Given the description of an element on the screen output the (x, y) to click on. 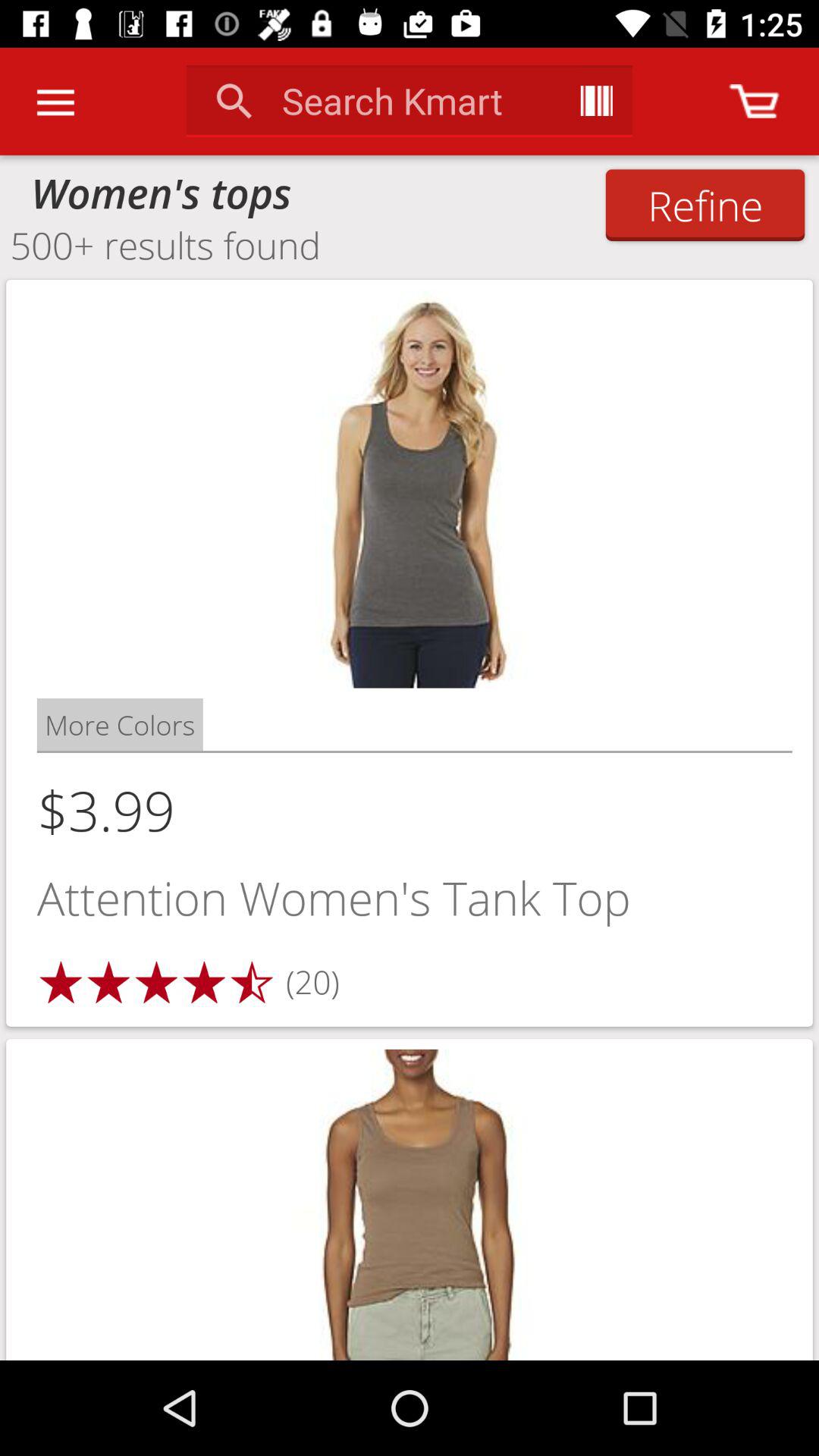
turn off item next to  women's tops icon (704, 205)
